Given the description of an element on the screen output the (x, y) to click on. 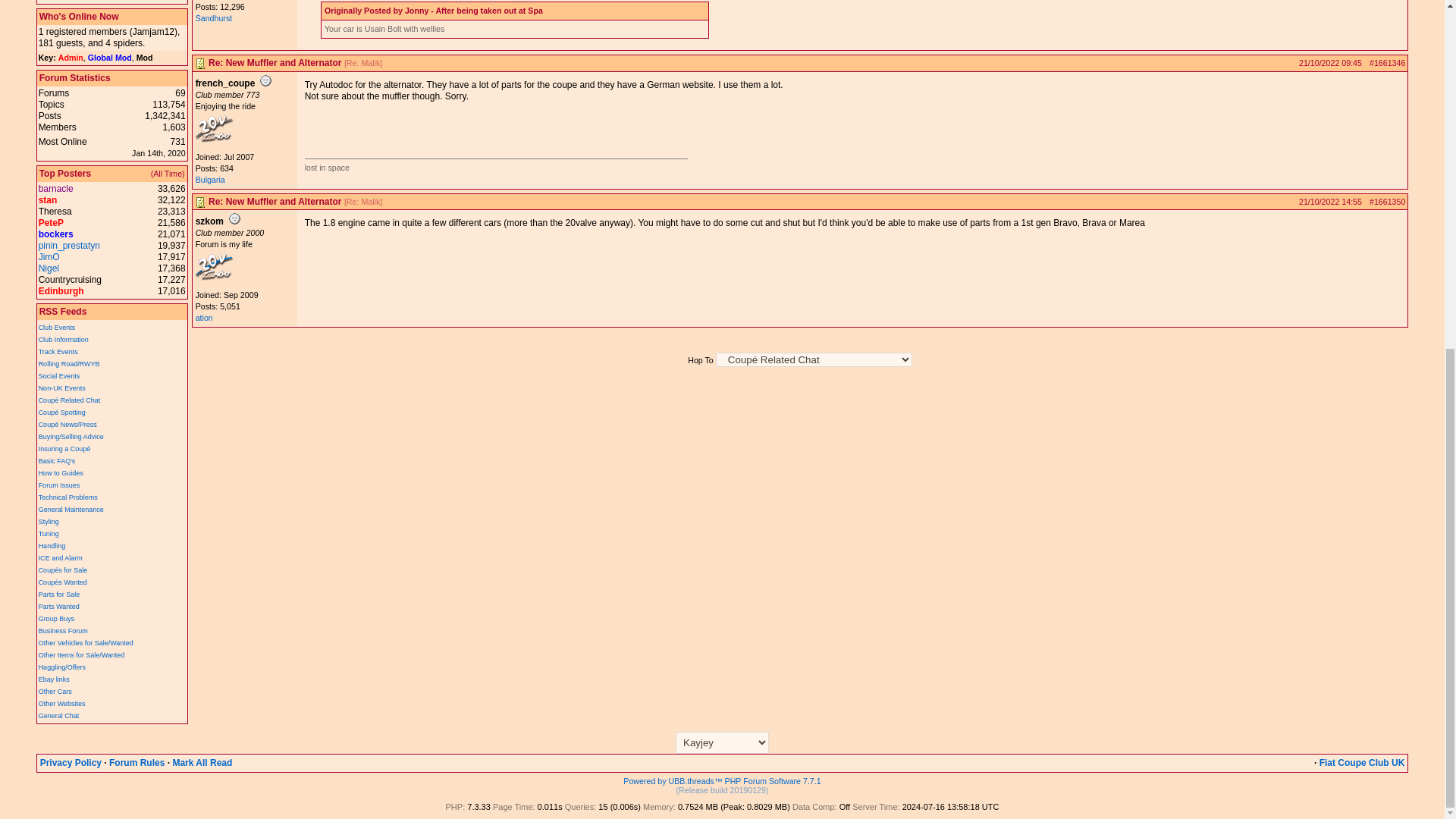
Countrycruising (70, 279)
Club Events (57, 327)
Non-UK Events (62, 388)
Social Events (59, 376)
Theresa (55, 211)
JimO (49, 256)
stan (48, 199)
bockers (56, 234)
Who's Online Now (79, 16)
PeteP (51, 222)
barnacle (56, 188)
Nigel (49, 267)
Offline (265, 80)
Track Events (58, 351)
User was last active . (153, 31)
